Given the description of an element on the screen output the (x, y) to click on. 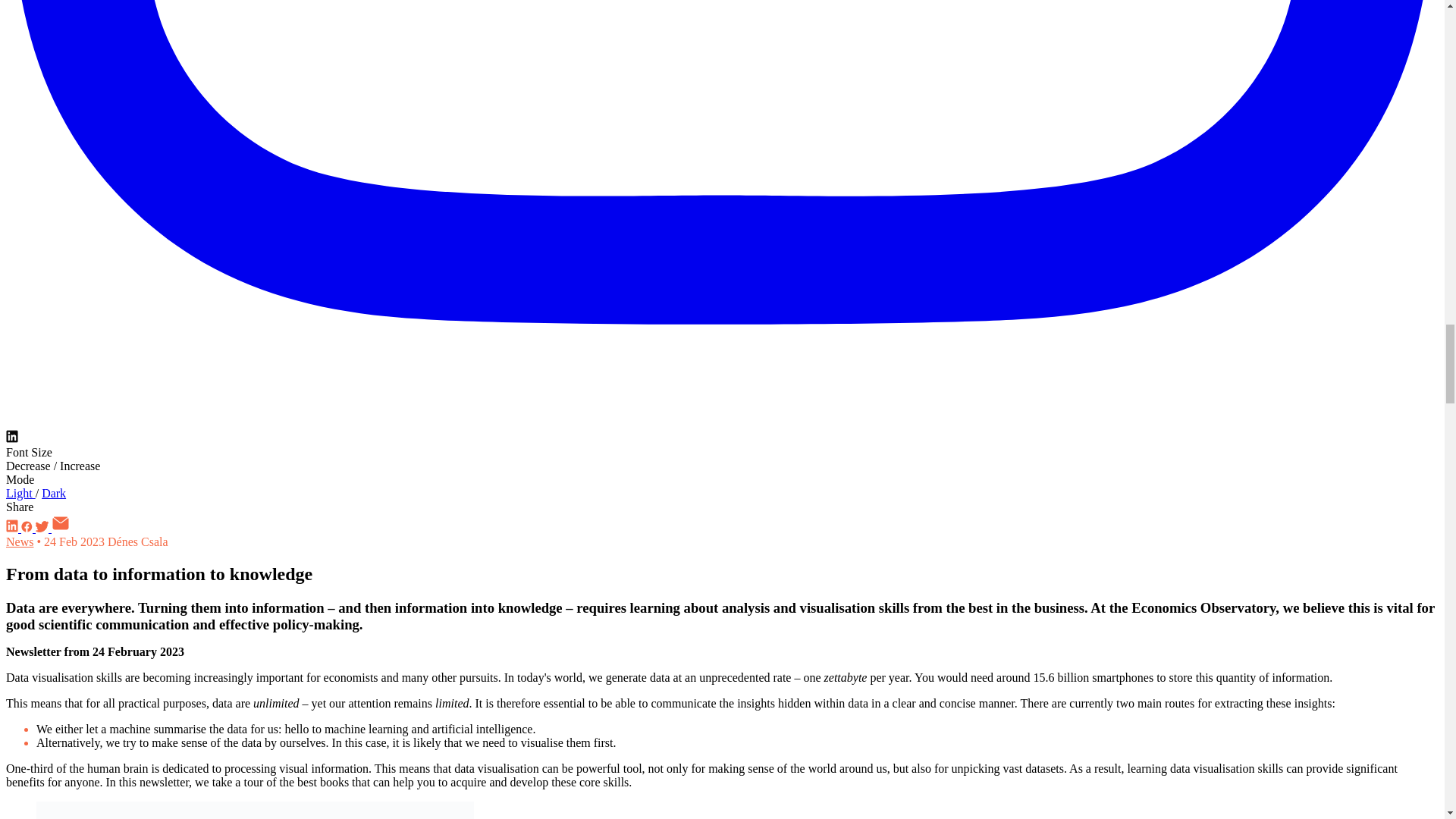
Increase (79, 465)
Light (19, 492)
Dark (53, 492)
Decrease (29, 465)
